Given the description of an element on the screen output the (x, y) to click on. 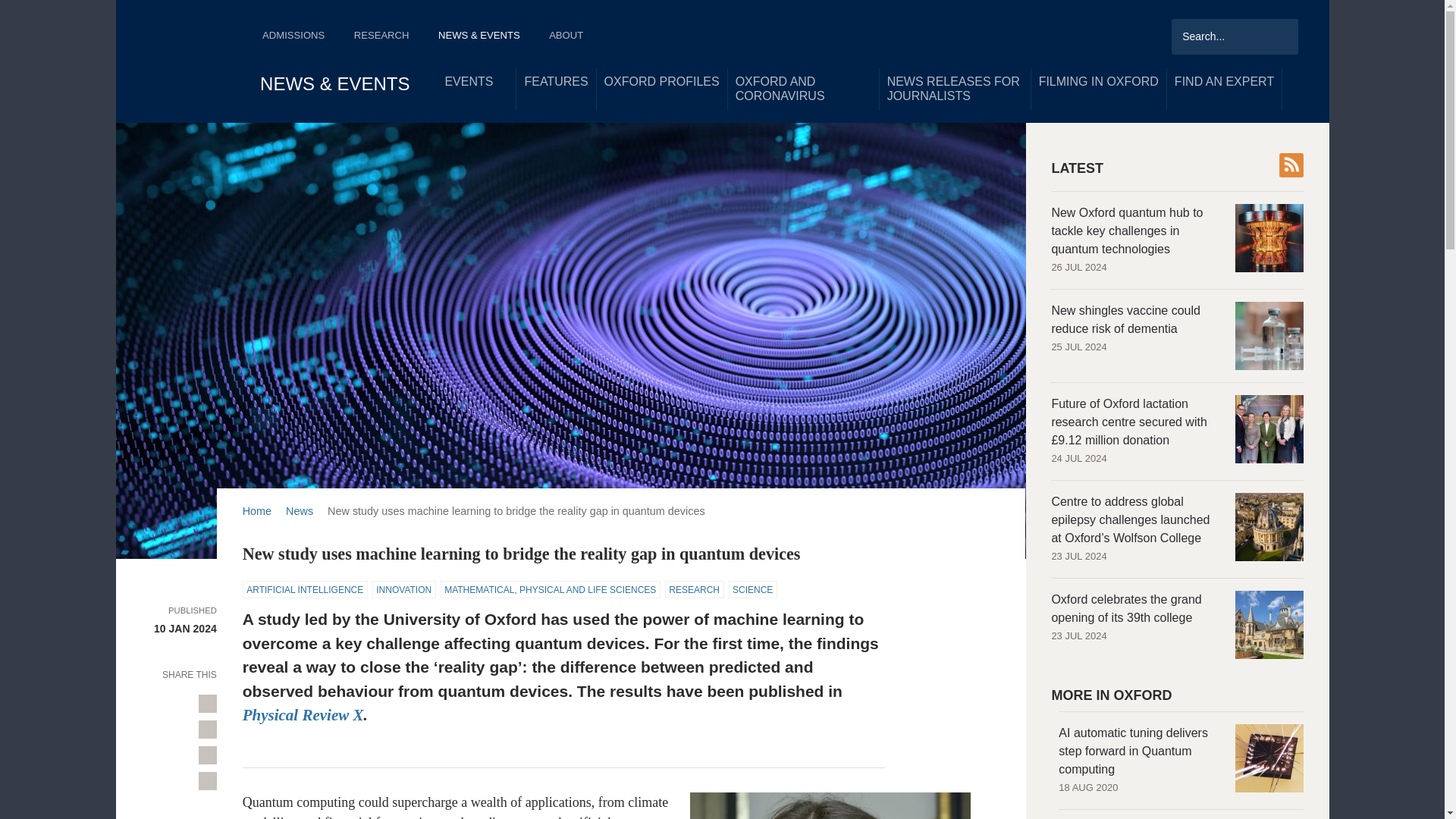
Home (188, 60)
OXFORD PROFILES (661, 81)
Search (1279, 35)
Home (188, 60)
RESEARCH (387, 37)
NEWS RELEASES FOR JOURNALISTS (954, 88)
EVENTS (475, 81)
FEATURES (555, 81)
Enter the terms you wish to search for. (1235, 36)
OXFORD AND CORONAVIRUS (803, 88)
ADMISSIONS (298, 37)
Search (1279, 35)
ABOUT (571, 37)
